Given the description of an element on the screen output the (x, y) to click on. 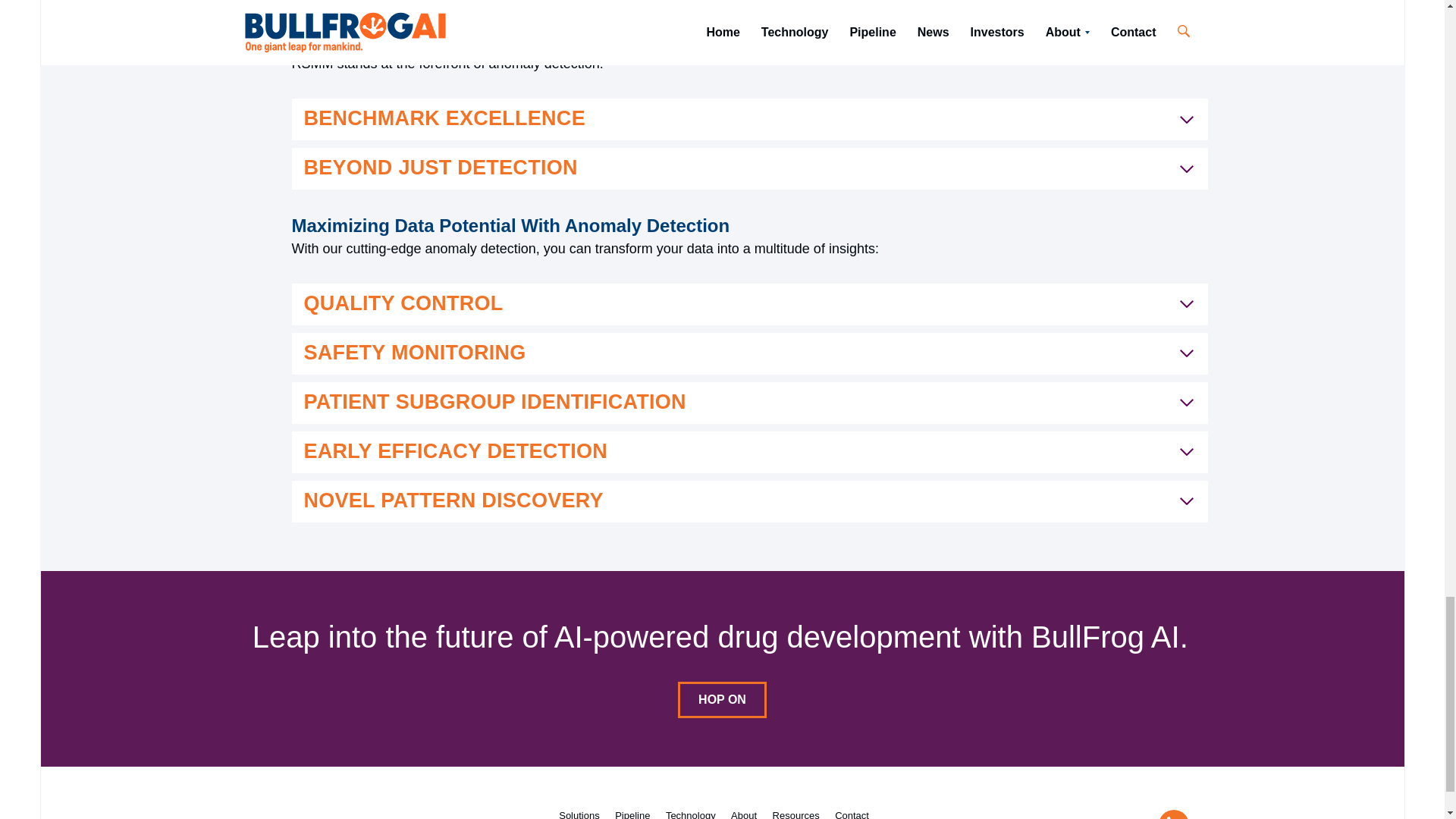
BENCHMARK EXCELLENCE (749, 119)
